Given the description of an element on the screen output the (x, y) to click on. 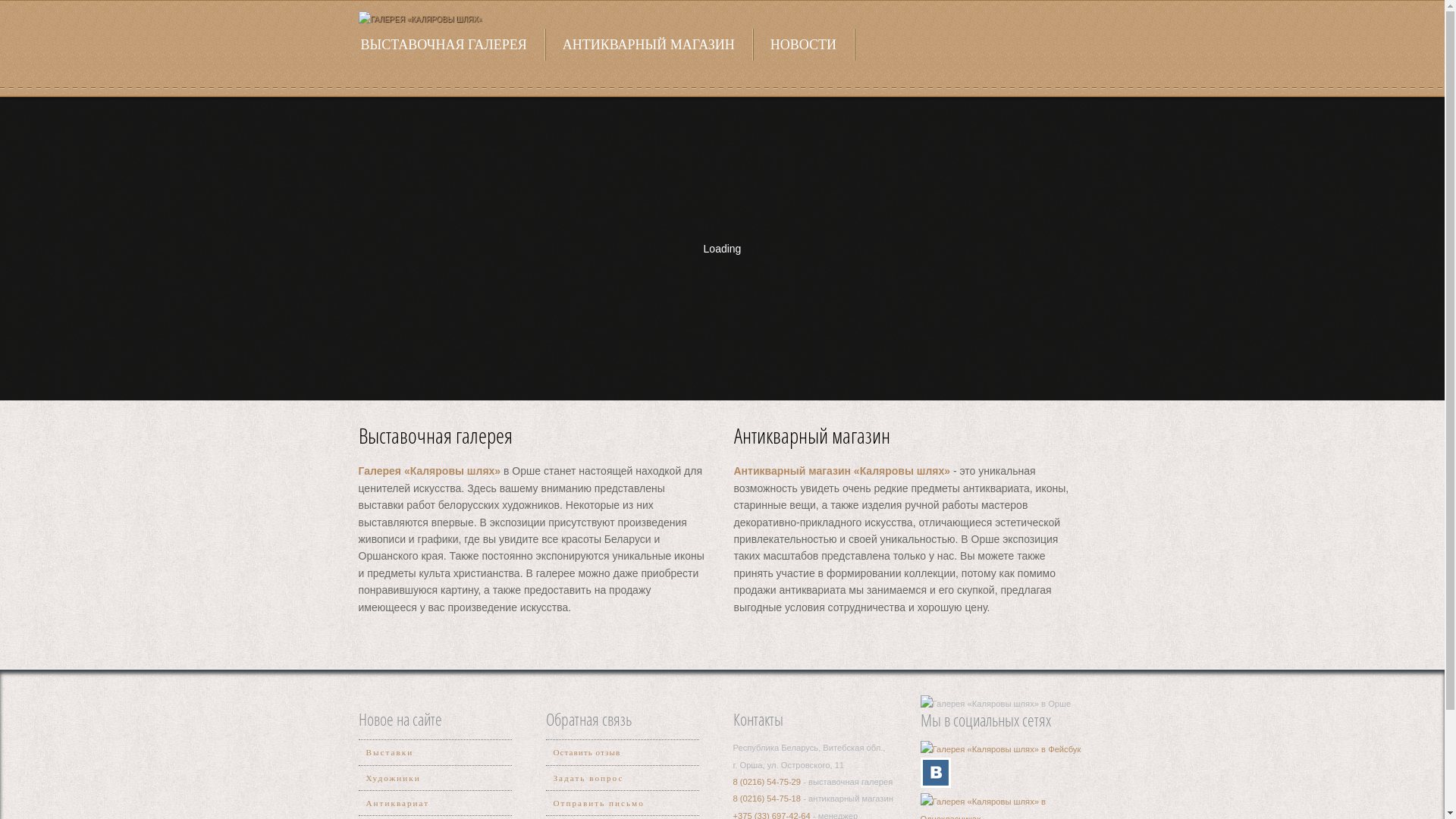
8 (0216) 54-75-29 Element type: text (766, 781)
8 (0216) 54-75-18 Element type: text (766, 798)
